Given the description of an element on the screen output the (x, y) to click on. 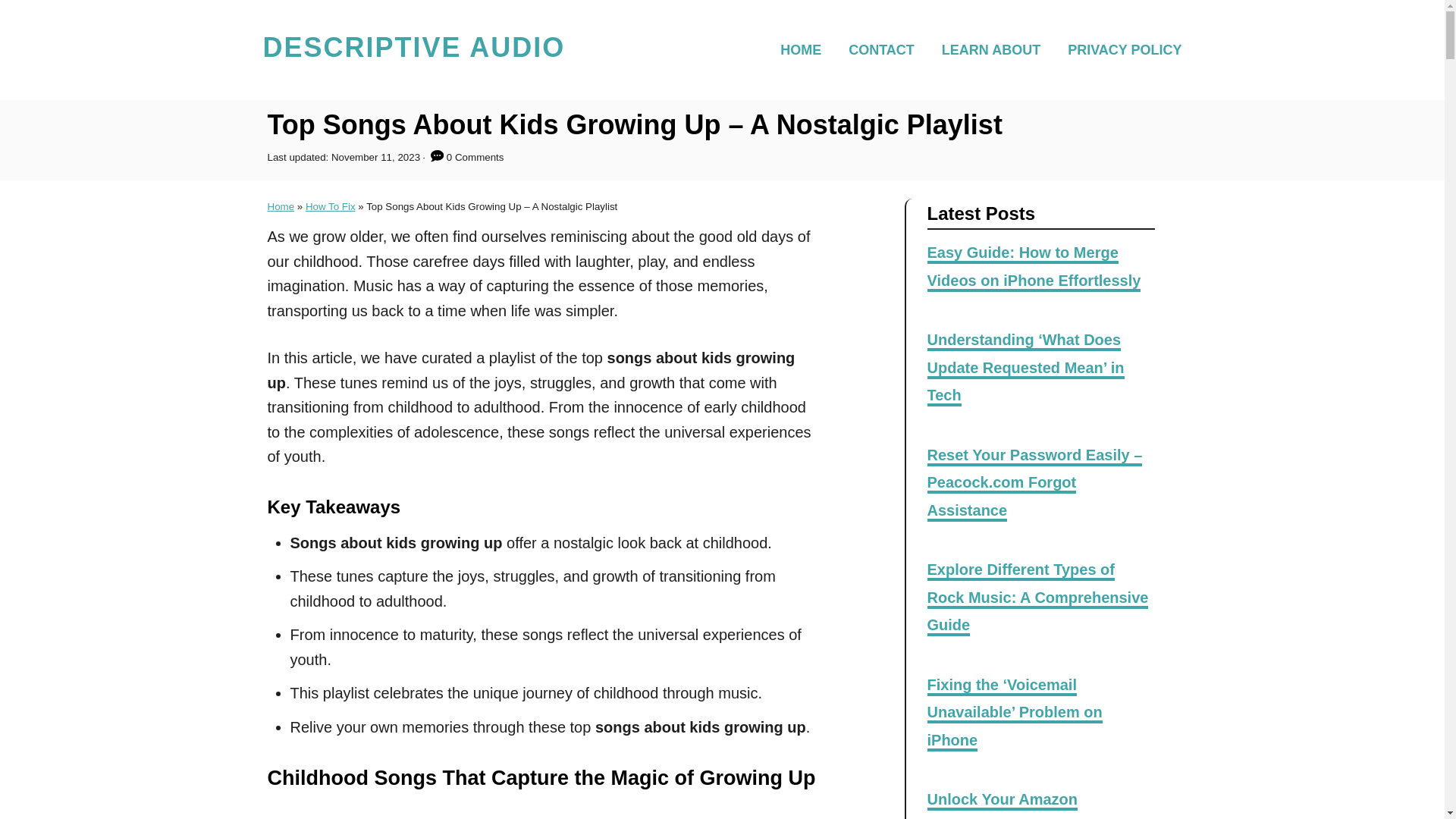
Descriptive Audio (413, 49)
How To Fix (330, 206)
DESCRIPTIVE AUDIO (413, 49)
Home (280, 206)
Easy Guide: How to Merge Videos on iPhone Effortlessly (1033, 267)
Explore Different Types of Rock Music: A Comprehensive Guide (1037, 598)
HOME (805, 49)
LEARN ABOUT (995, 49)
CONTACT (886, 49)
PRIVACY POLICY (1119, 49)
